Given the description of an element on the screen output the (x, y) to click on. 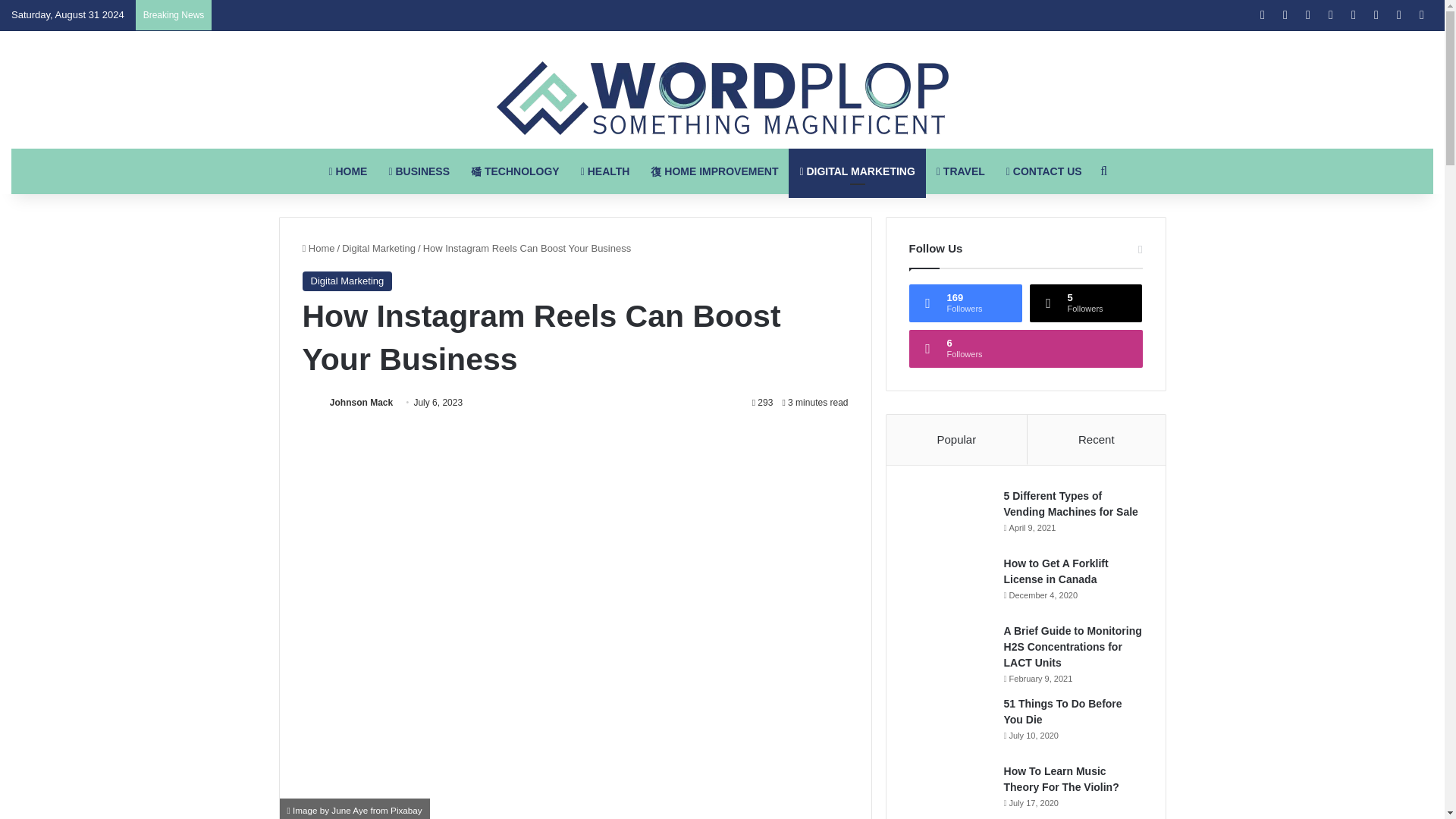
Johnson Mack (361, 402)
HEALTH (605, 171)
HOME IMPROVEMENT (714, 171)
WordPlop (722, 98)
HOME (347, 171)
Digital Marketing (346, 281)
CONTACT US (1044, 171)
Digital Marketing (378, 247)
Home (317, 247)
TRAVEL (960, 171)
